Given the description of an element on the screen output the (x, y) to click on. 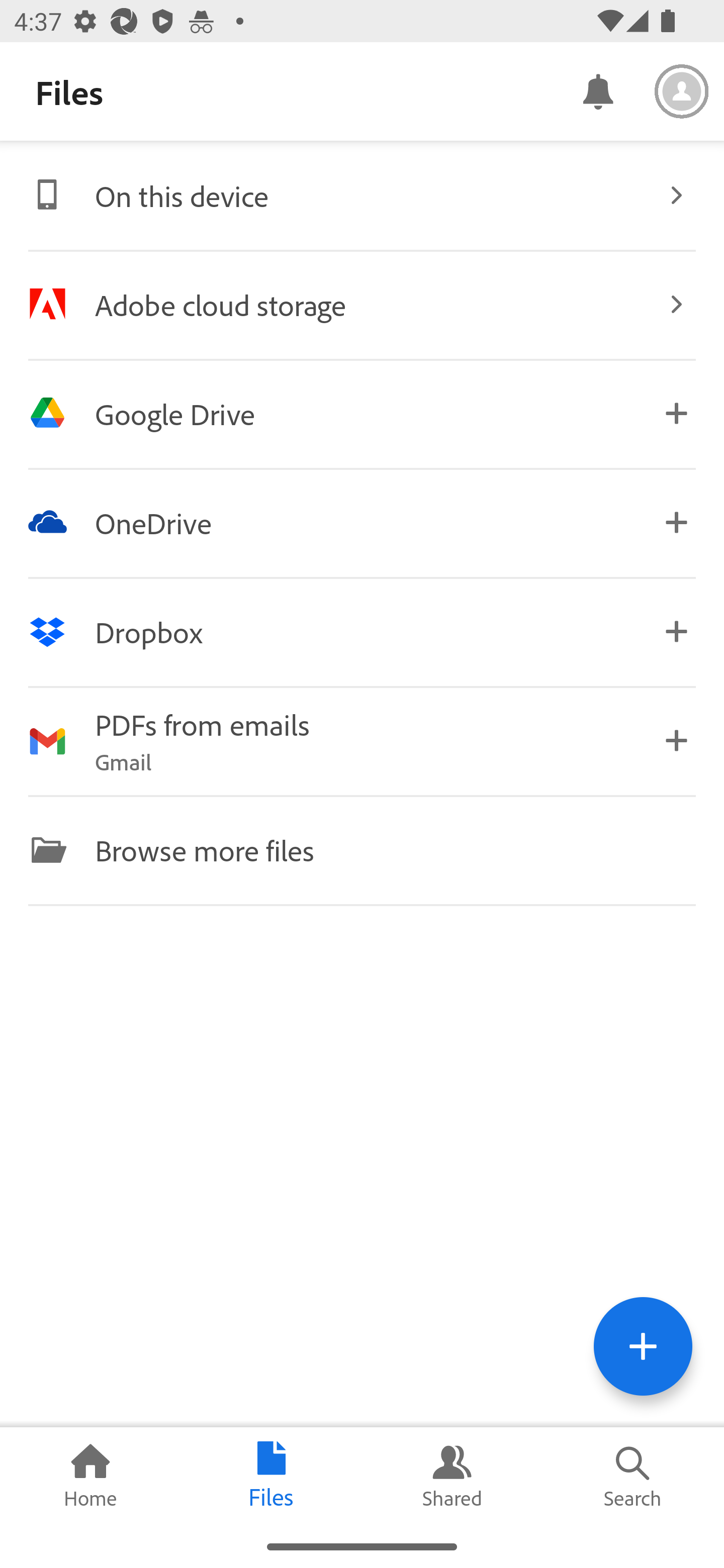
Notifications (597, 90)
Settings (681, 91)
Image On this device (362, 195)
Image Adobe cloud storage (362, 304)
Image Google Drive (362, 413)
Image OneDrive (362, 522)
Image Dropbox (362, 631)
Image PDFs from emails Gmail (362, 740)
Image Browse more files (362, 849)
Tools (642, 1345)
Home (90, 1475)
Files (271, 1475)
Shared (452, 1475)
Search (633, 1475)
